Given the description of an element on the screen output the (x, y) to click on. 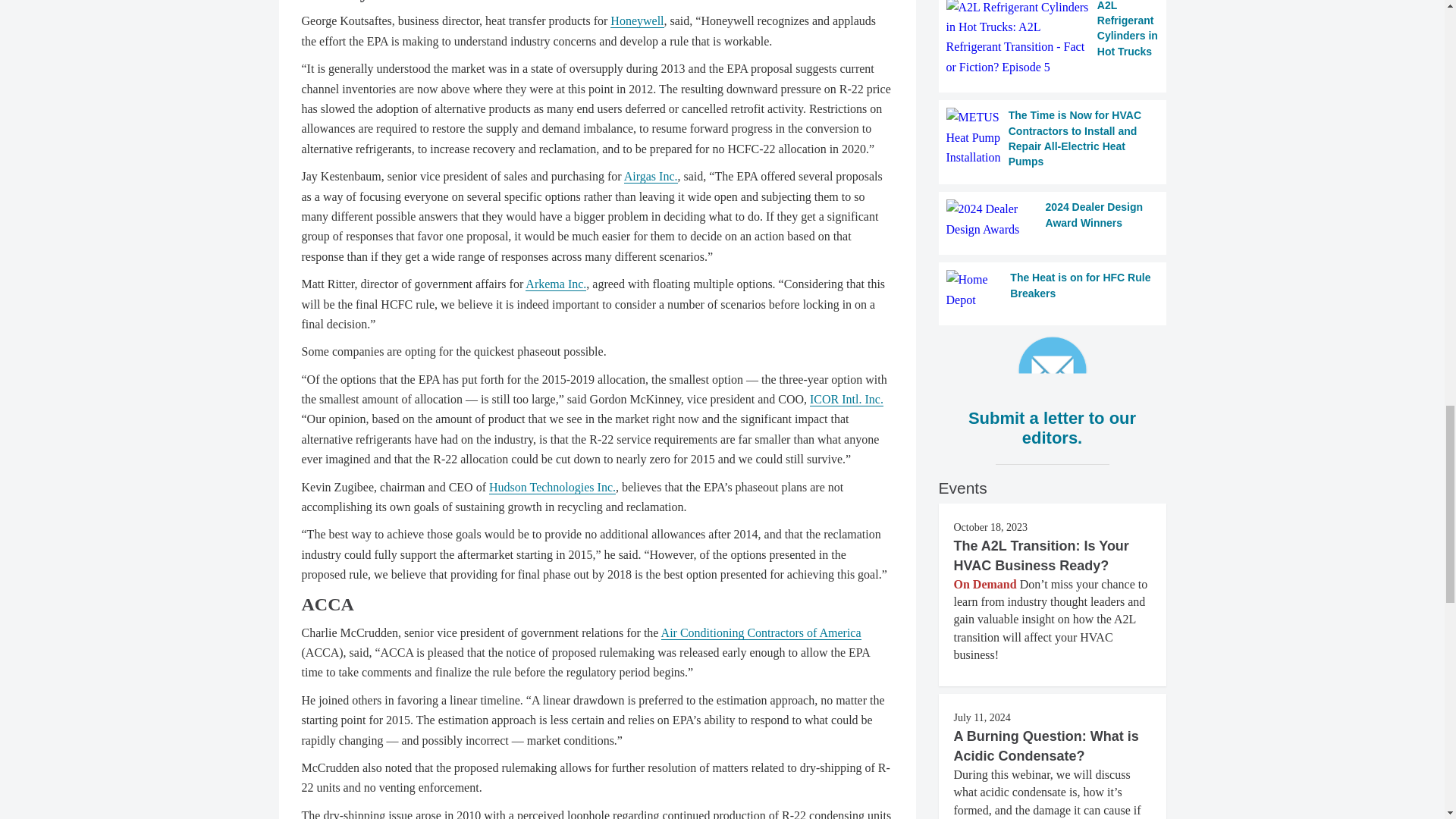
The A2L Transition: Is Your HVAC Business Ready? (1041, 555)
A2L Refrigerant Cylinders in Hot Trucks (1052, 38)
A Burning Question: What is Acidic Condensate? (1045, 745)
The Heat is on for HFC Rule Breakers (1052, 290)
2024 Dealer Design Award Winners (1052, 219)
